Given the description of an element on the screen output the (x, y) to click on. 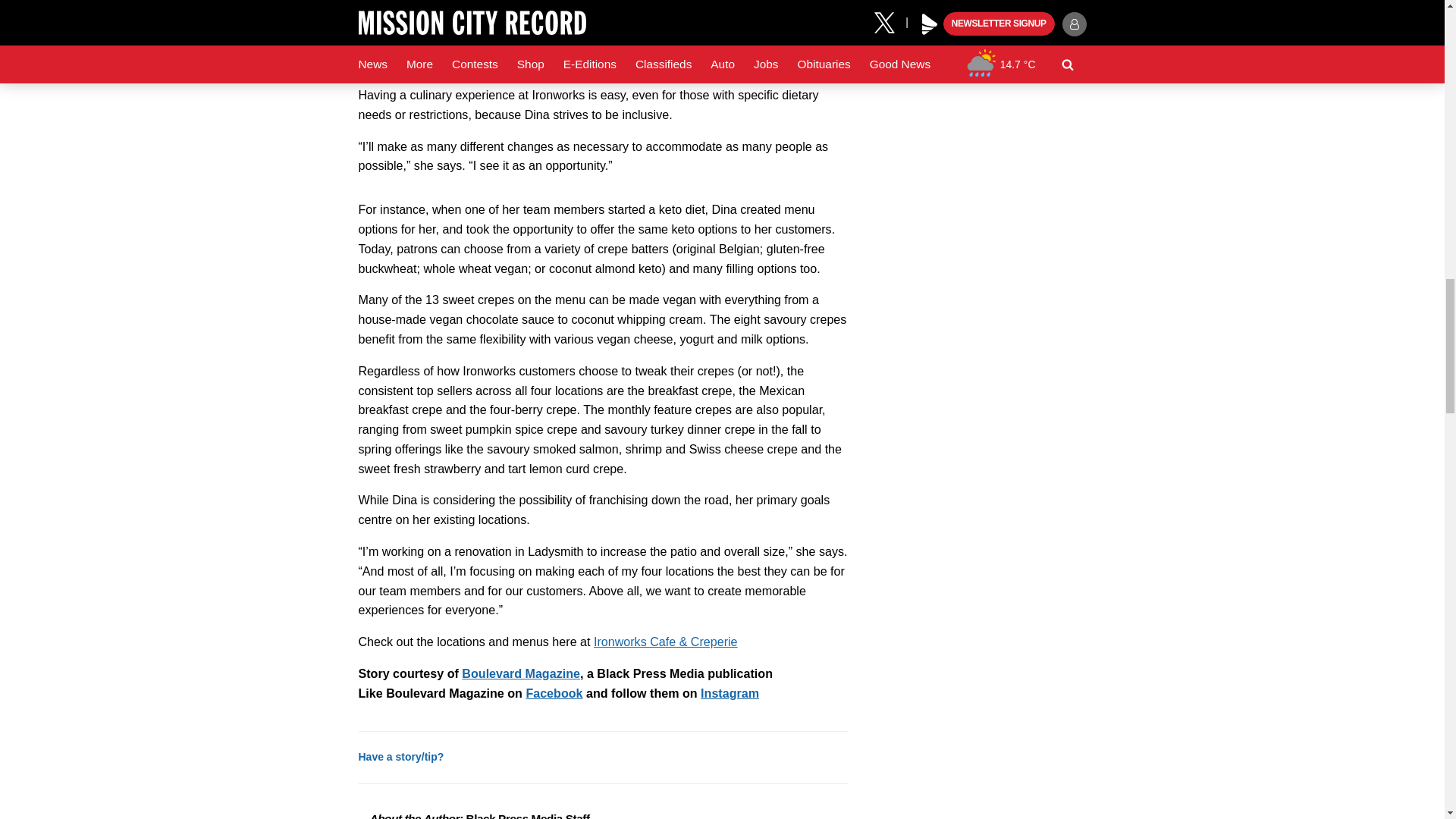
Ironworks Cafe (666, 641)
